Given the description of an element on the screen output the (x, y) to click on. 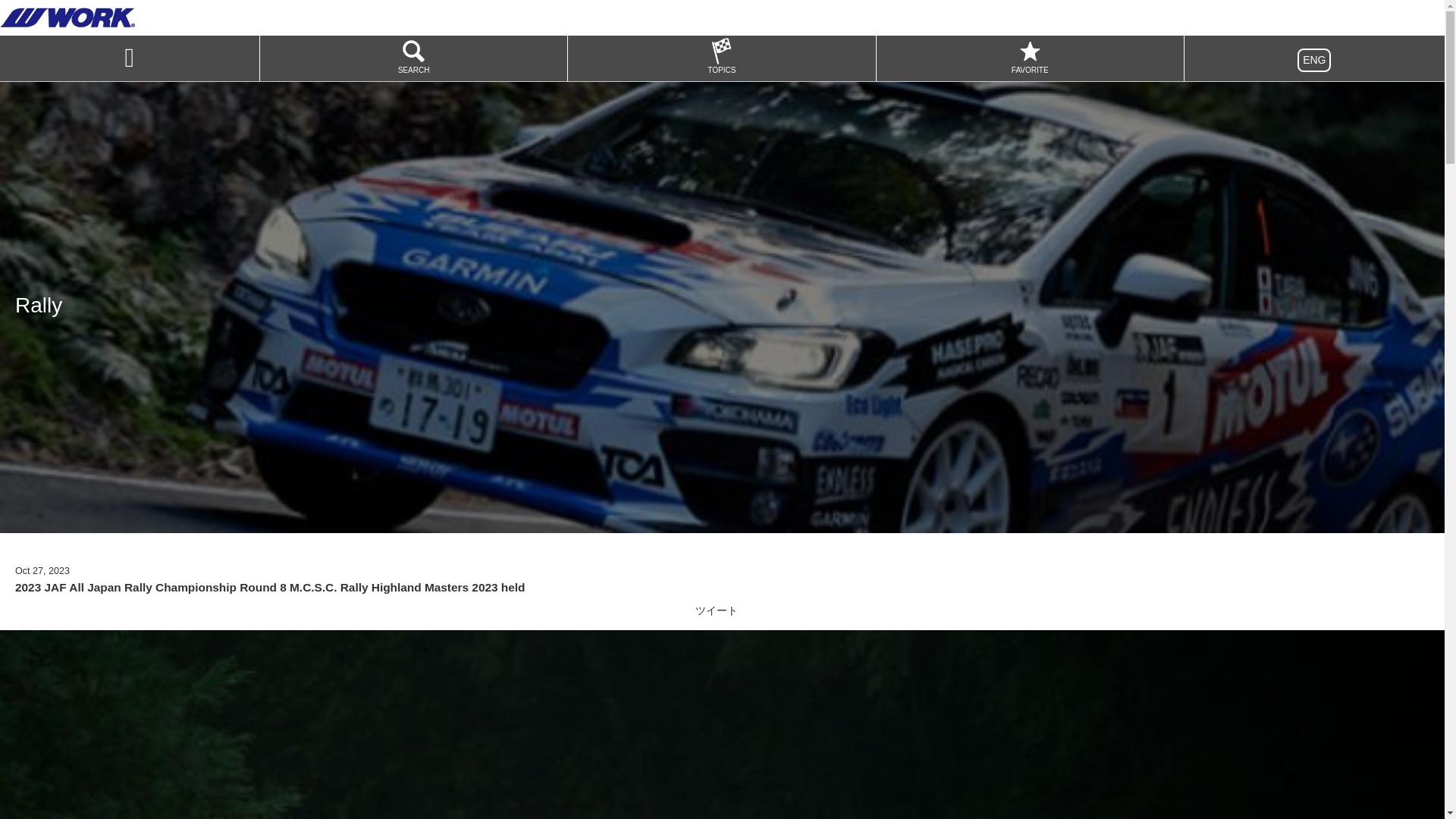
SEARCH (413, 58)
ENG (1313, 60)
TOPICS (721, 58)
FAVORITE (1029, 58)
